Given the description of an element on the screen output the (x, y) to click on. 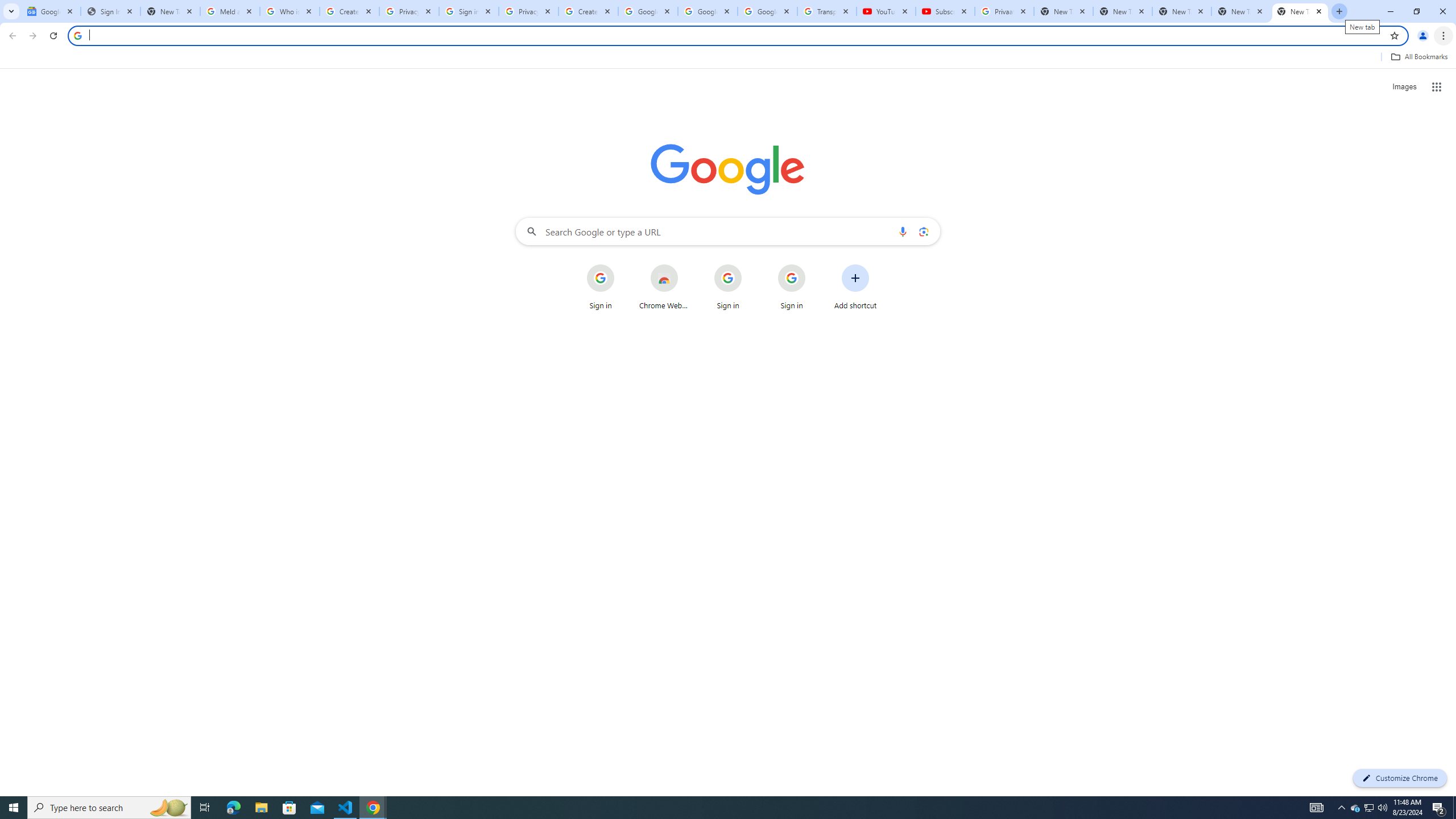
New Tab (1182, 11)
